Given the description of an element on the screen output the (x, y) to click on. 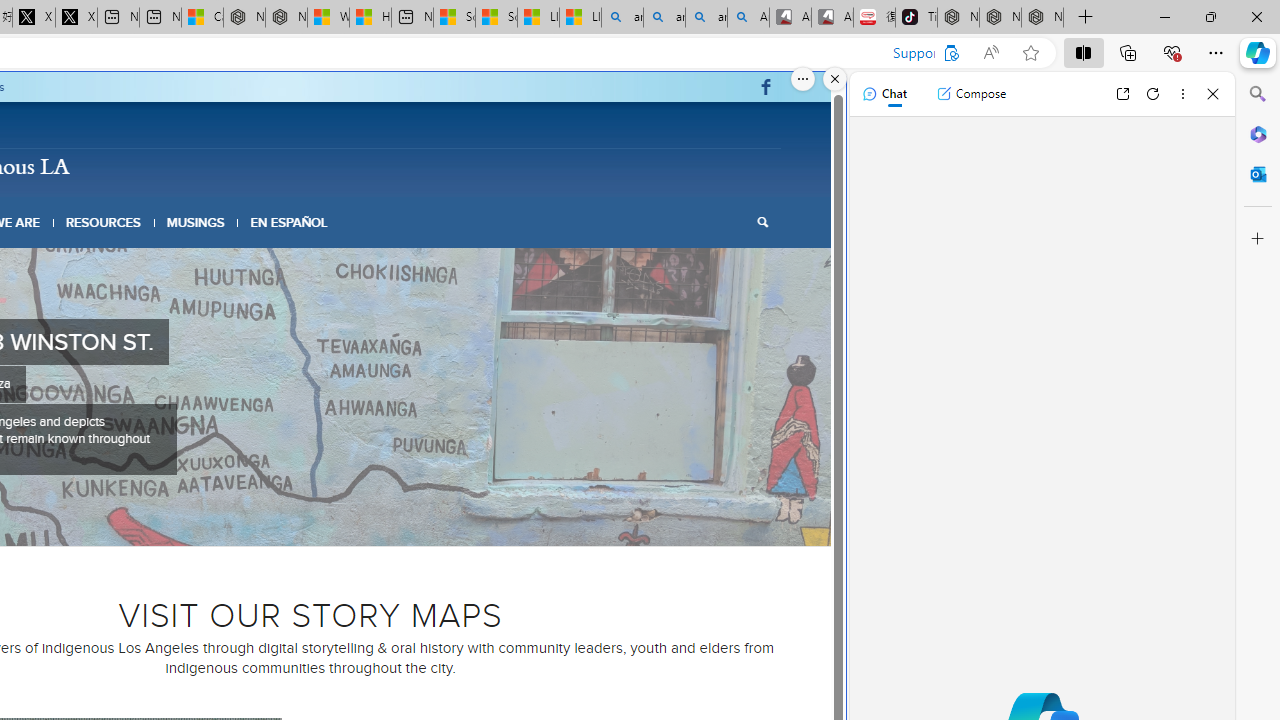
Support THE UCLA FOUNDATION? (950, 53)
More options. (803, 79)
TikTok (916, 17)
3 (286, 521)
Microsoft 365 (1258, 133)
Close split screen. (835, 79)
